Given the description of an element on the screen output the (x, y) to click on. 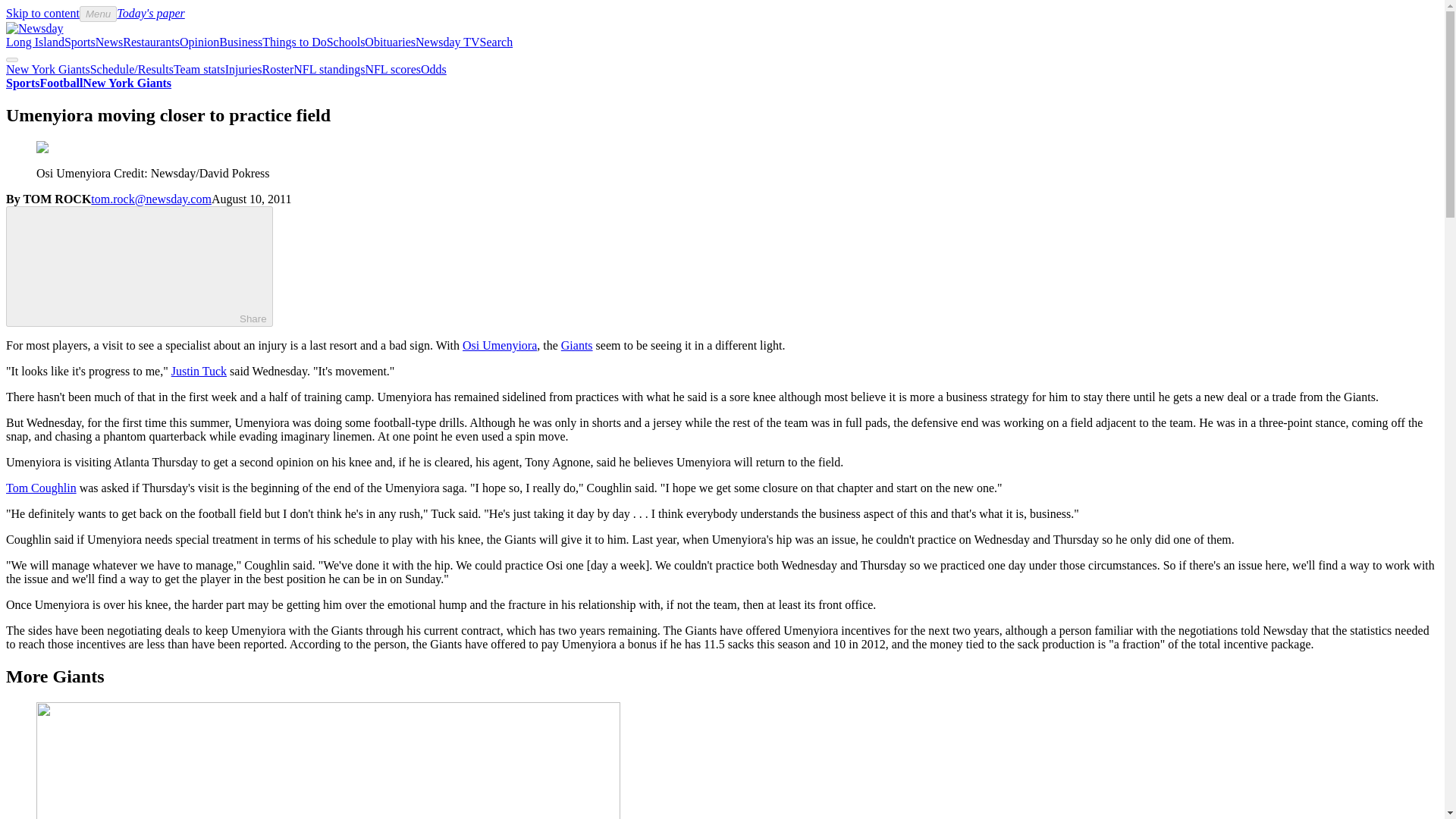
Sports (80, 42)
Opinion (199, 42)
Osi Umenyiora (500, 345)
NFL scores (392, 69)
Newsday TV (447, 42)
Injuries (243, 69)
Business (240, 42)
New York Giants (126, 82)
Odds (433, 69)
Today's paper (150, 12)
